Given the description of an element on the screen output the (x, y) to click on. 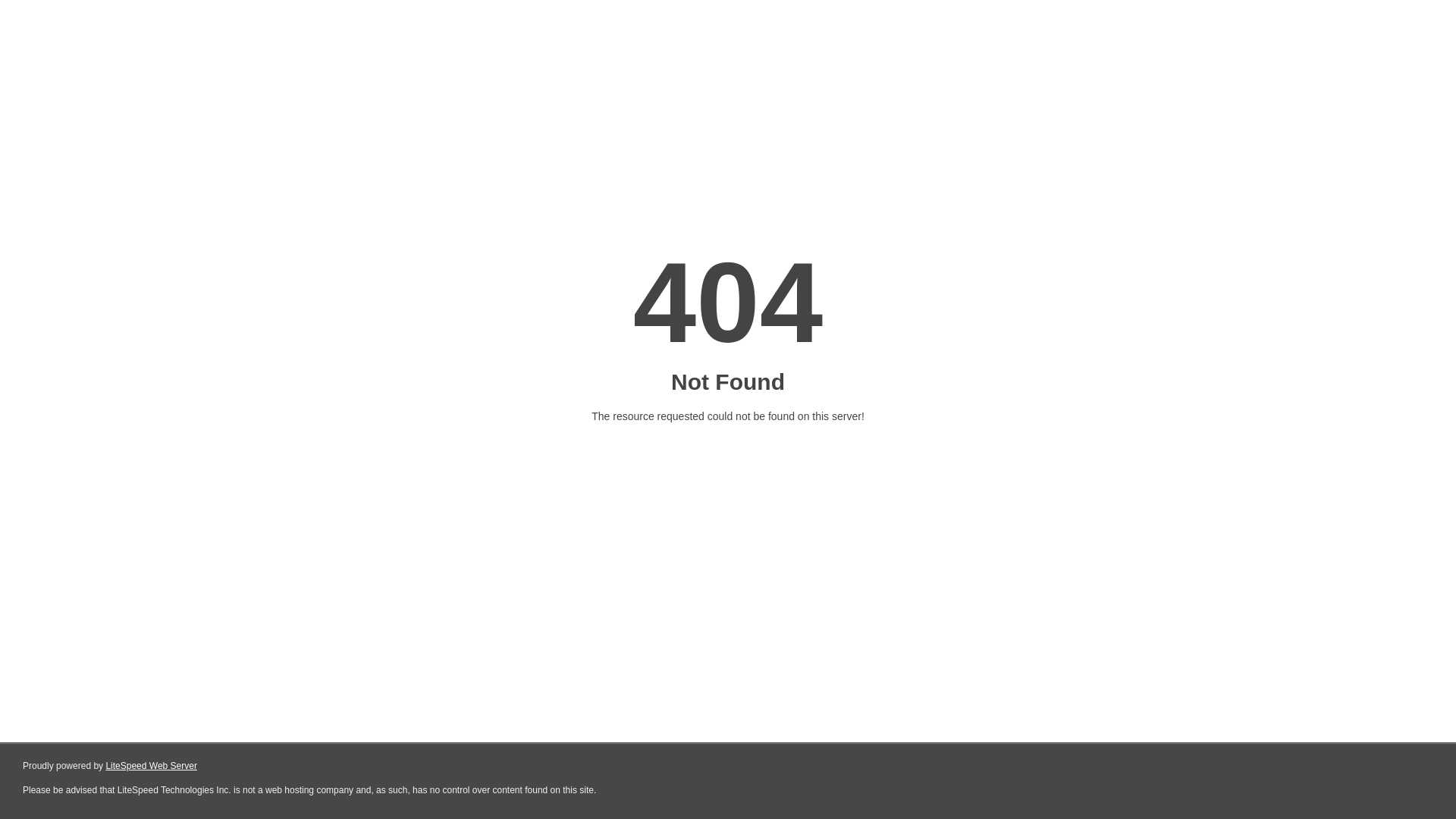
LiteSpeed Web Server Element type: text (151, 765)
